Given the description of an element on the screen output the (x, y) to click on. 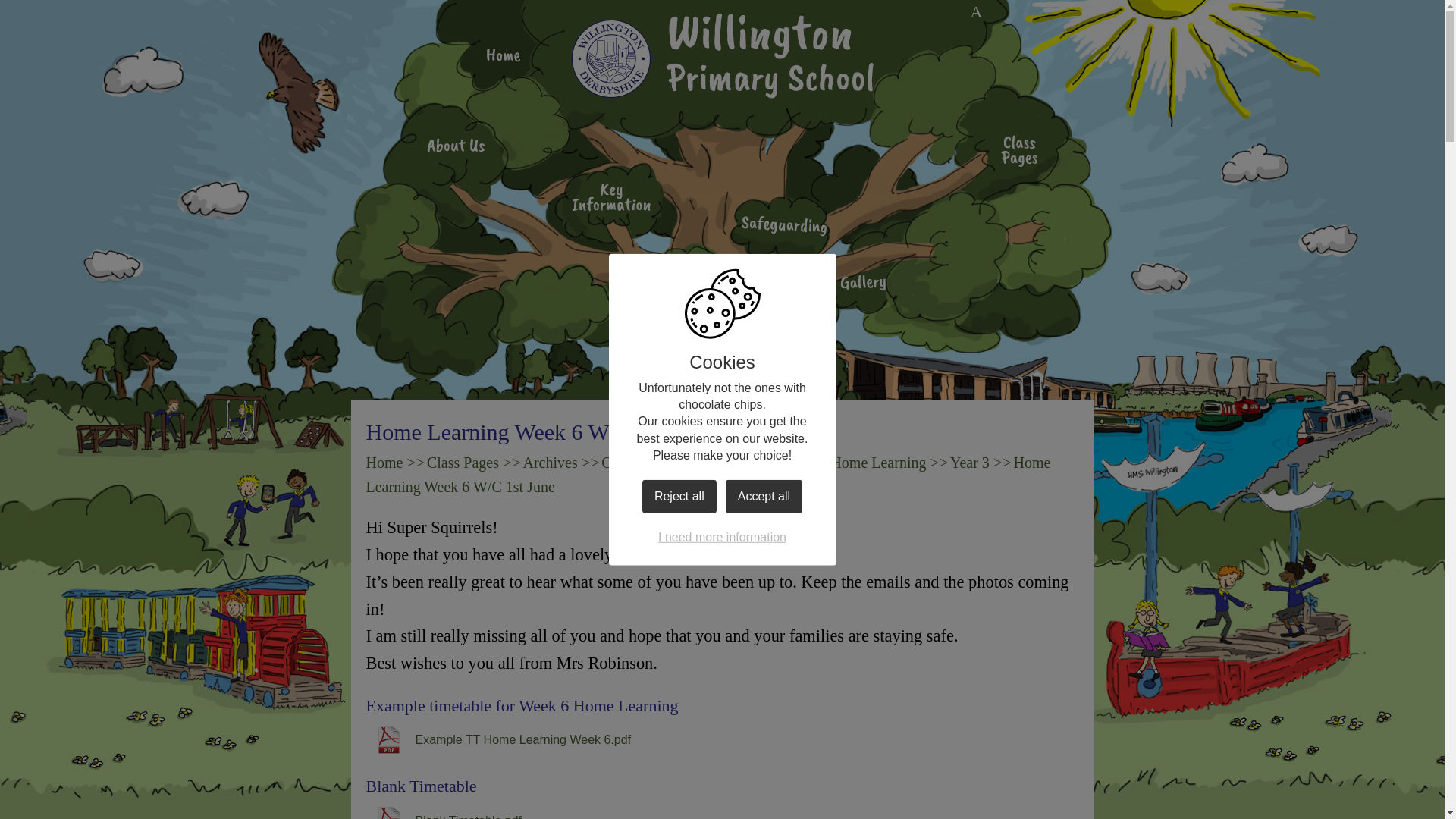
Year 3 (970, 462)
About Us (454, 146)
Example TT Home Learning Week 6.pdf (497, 739)
Archives (550, 462)
Log in (975, 12)
Home Page (725, 47)
Home Learning (877, 462)
Home (384, 462)
Class Pages Archive: 2020 - 2021 (703, 462)
Blank Timetable.pdf (443, 811)
Home Page (725, 47)
Class Pages (462, 462)
Home (503, 55)
